Given the description of an element on the screen output the (x, y) to click on. 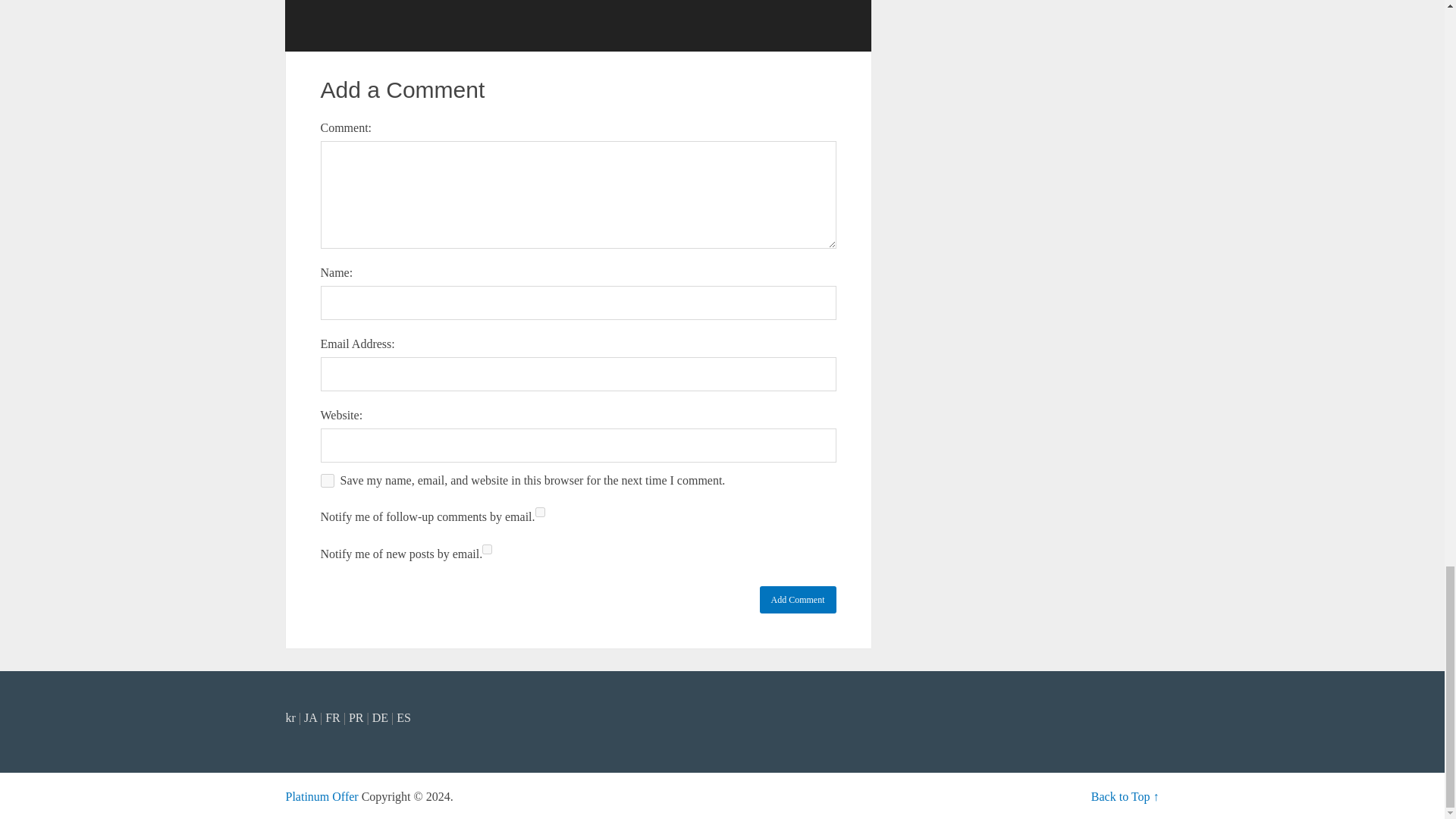
subscribe (486, 549)
Pre-Approved Offers (321, 796)
yes (326, 480)
subscribe (539, 511)
Add Comment (797, 599)
Add Comment (797, 599)
